Given the description of an element on the screen output the (x, y) to click on. 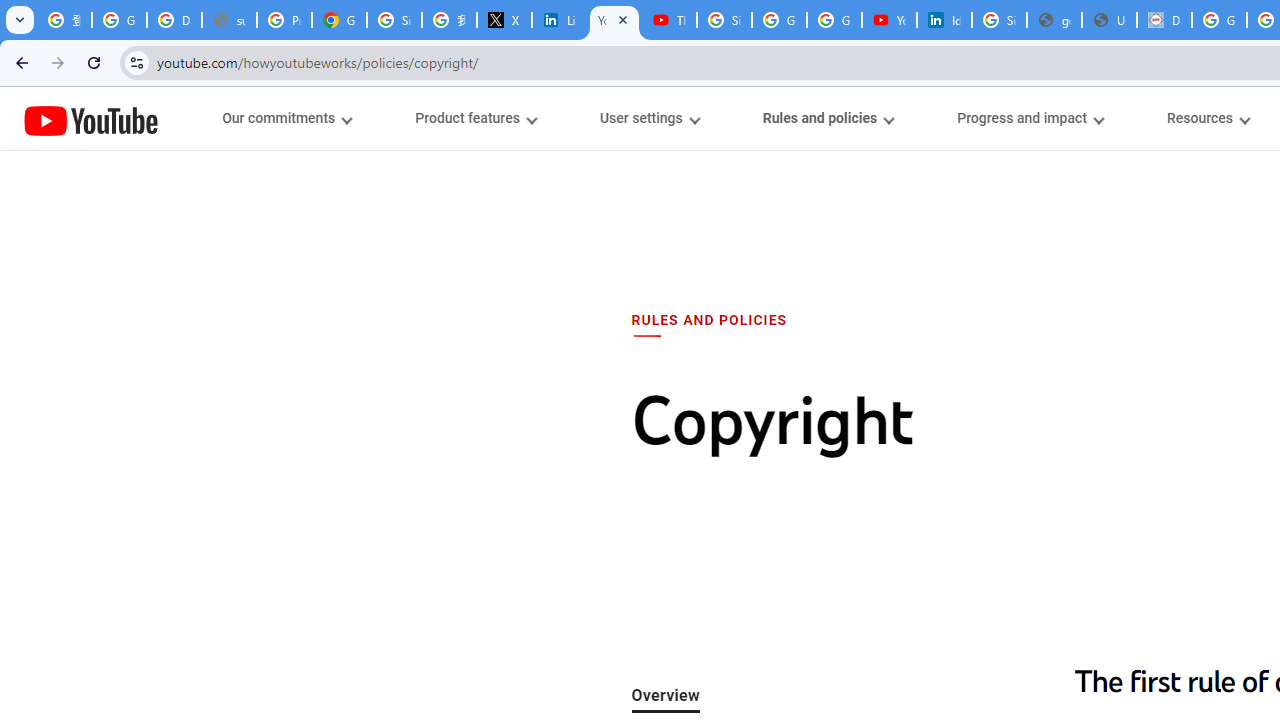
JUMP TO CONTENT (209, 119)
Data Privacy Framework (1163, 20)
Resources menupopup (1208, 118)
Our commitments menupopup (286, 118)
Reload (93, 62)
User settings menupopup (648, 118)
Identity verification via Persona | LinkedIn Help (943, 20)
LinkedIn Privacy Policy (559, 20)
